Given the description of an element on the screen output the (x, y) to click on. 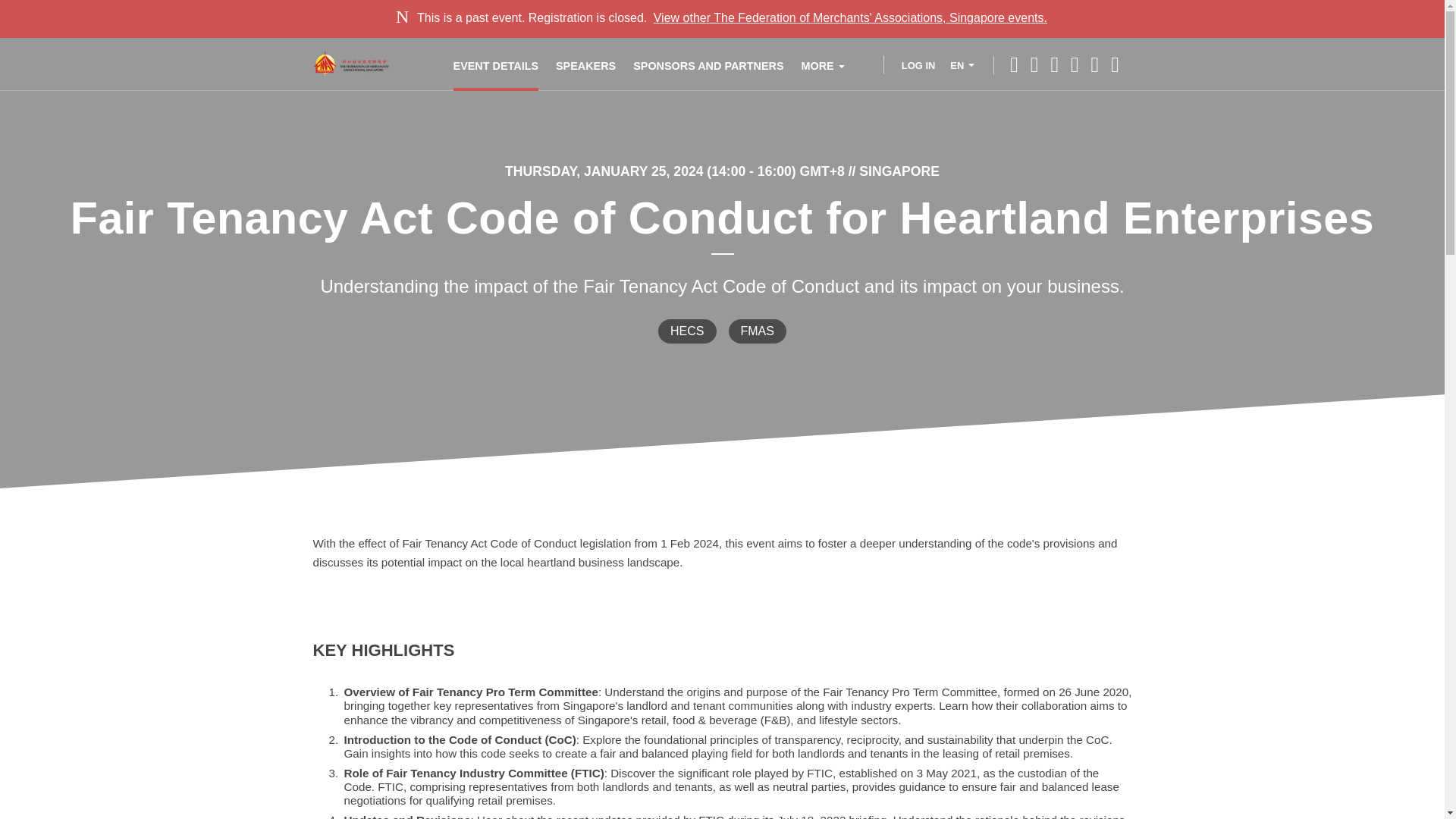
LOG IN (909, 63)
SPONSORS AND PARTNERS (708, 63)
Sign in (909, 63)
SPEAKERS (585, 63)
EVENT DETAILS (495, 63)
